Given the description of an element on the screen output the (x, y) to click on. 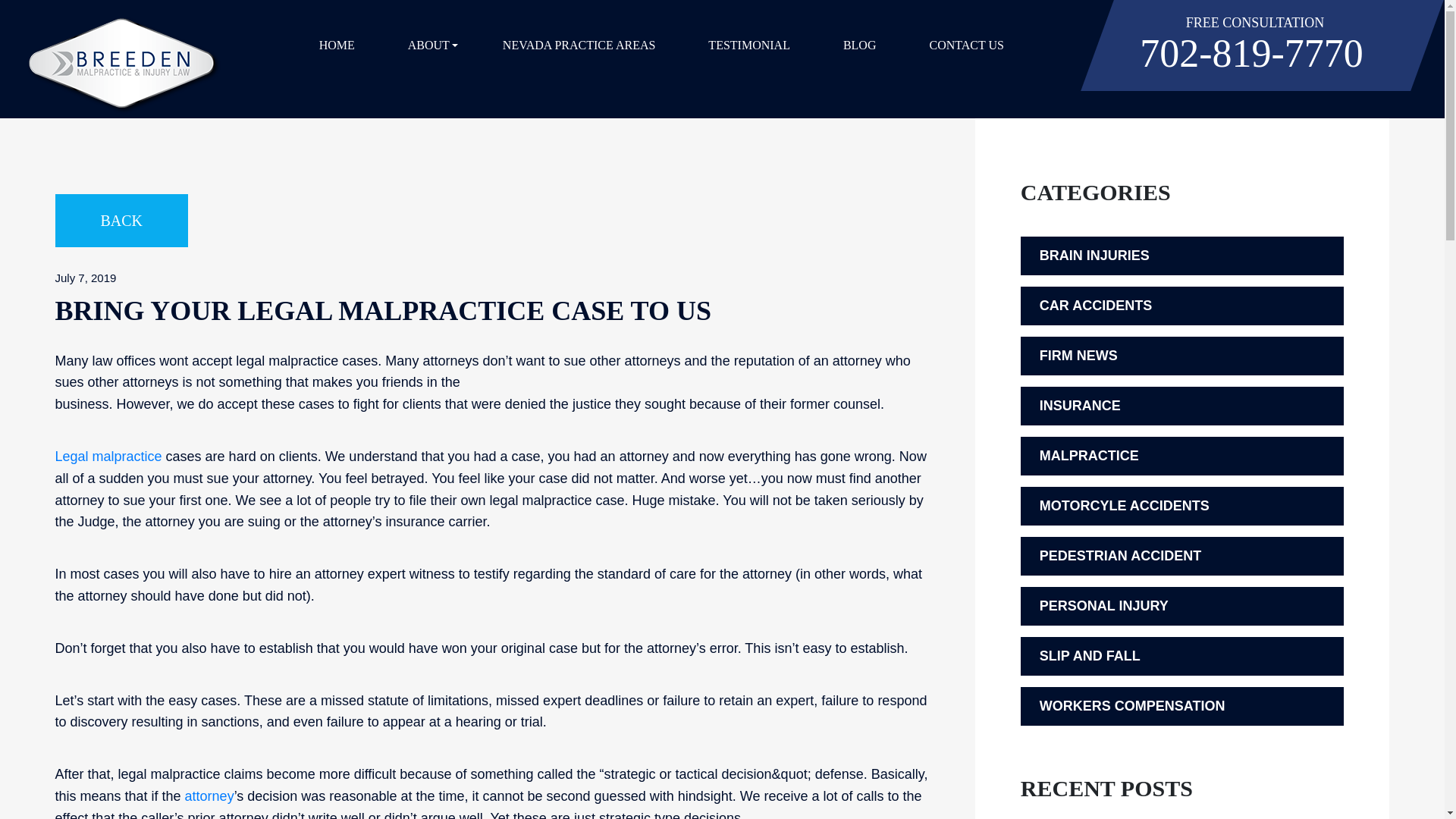
TESTIMONIAL (748, 45)
NEVADA PRACTICE AREAS (579, 45)
CONTACT US (965, 45)
ABOUT (428, 45)
